Given the description of an element on the screen output the (x, y) to click on. 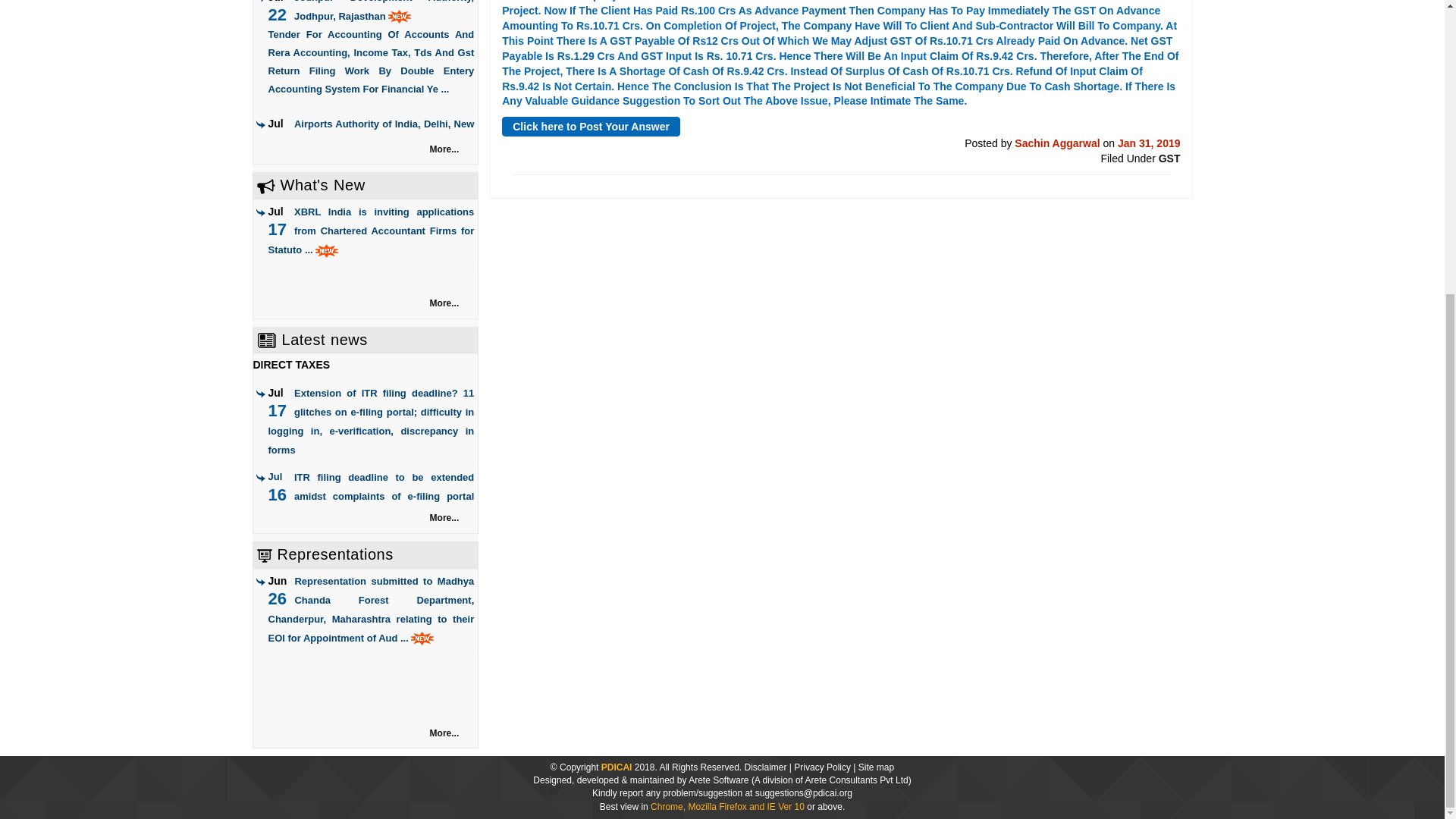
Click here to view details (370, 49)
Click here to view details (370, 421)
Click here to view details (370, 171)
Click here to view details (370, 609)
Click here to view details (370, 230)
Click here to view details (384, 495)
